Given the description of an element on the screen output the (x, y) to click on. 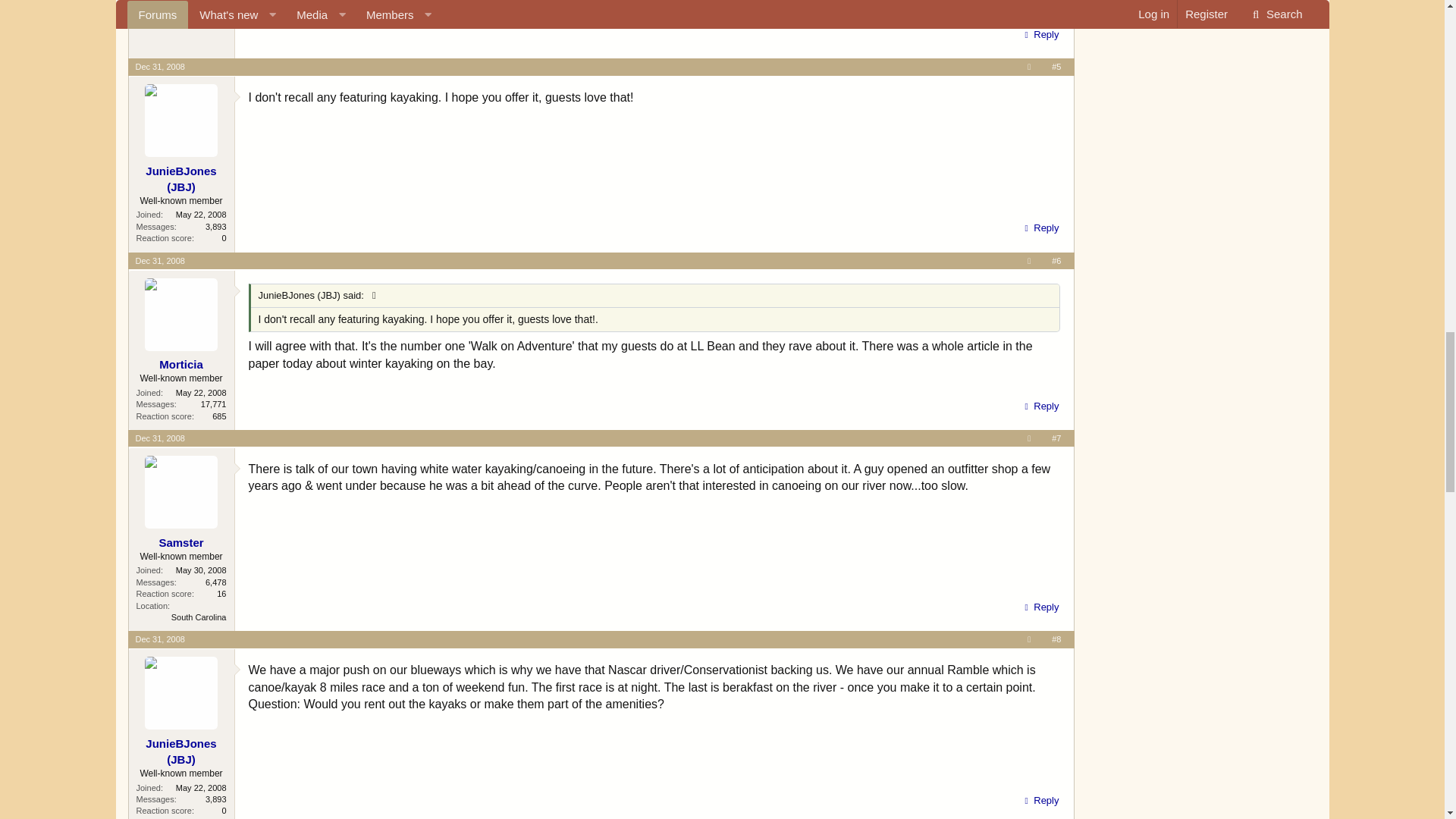
Reply, quoting this message (1039, 35)
Dec 31, 2008 at 1:28 PM (159, 260)
Reply, quoting this message (1039, 406)
Reply, quoting this message (1039, 228)
Dec 31, 2008 at 1:26 PM (159, 66)
